Given the description of an element on the screen output the (x, y) to click on. 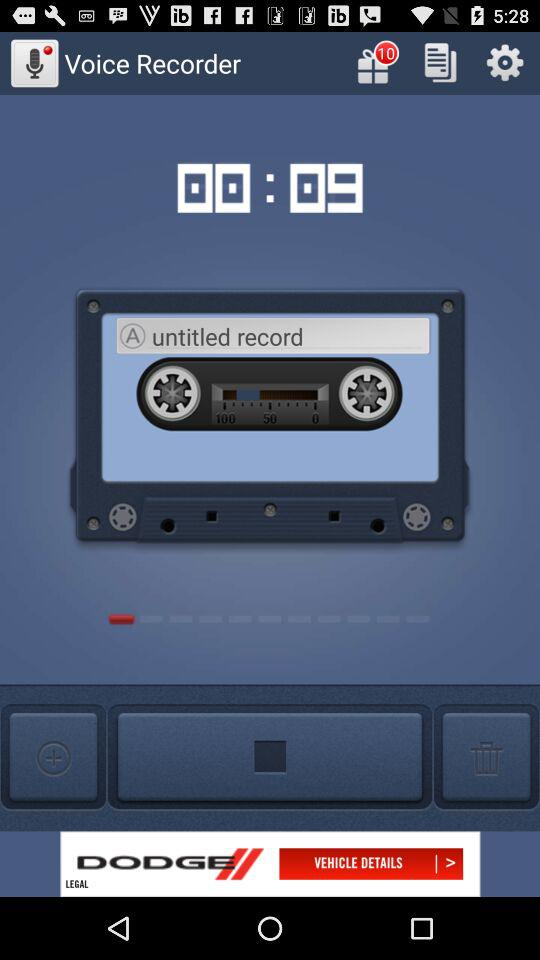
copy the info (440, 62)
